Given the description of an element on the screen output the (x, y) to click on. 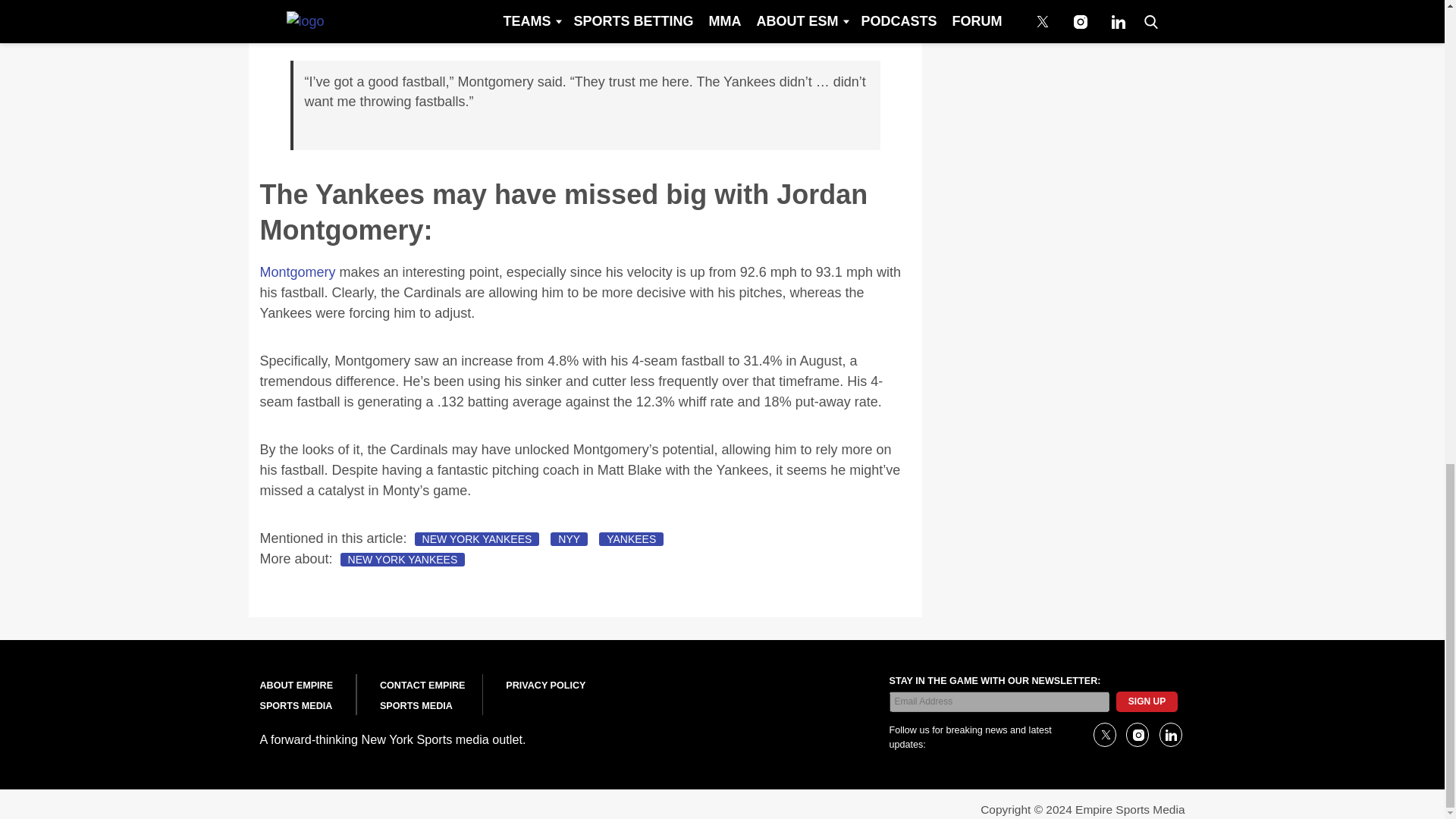
Connect with us on LinkedIn (1169, 734)
NEW YORK YANKEES (477, 539)
Follow us on Instagram (1136, 734)
YANKEES (630, 539)
NYY (569, 539)
Follow us on Twitter (1104, 734)
Montgomery (296, 272)
NEW YORK YANKEES (402, 559)
